Given the description of an element on the screen output the (x, y) to click on. 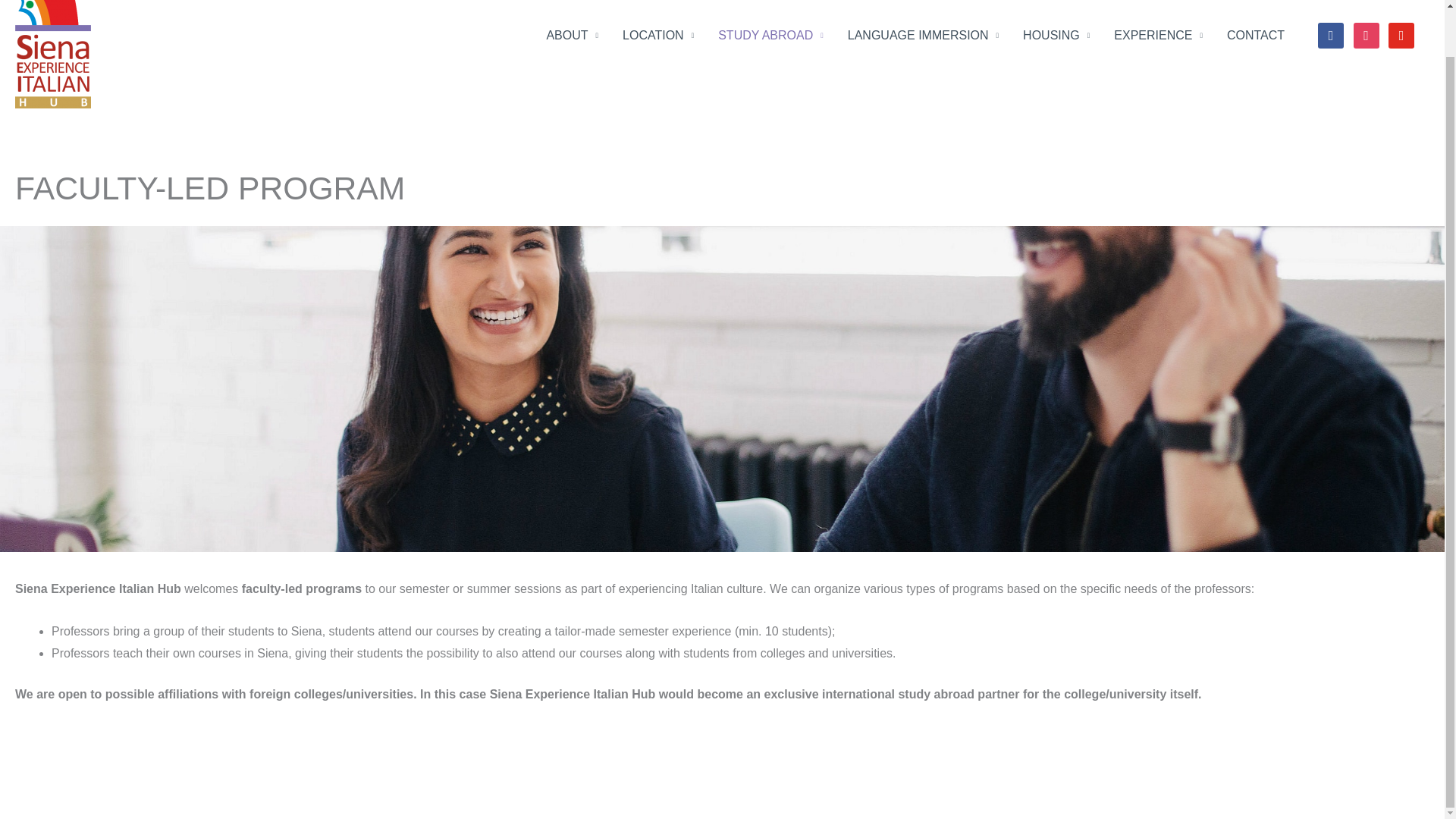
LANGUAGE IMMERSION (922, 34)
Default Label (1401, 35)
facebook (1330, 35)
CONTACT (1255, 34)
ABOUT (572, 34)
STUDY ABROAD (770, 34)
LOCATION (658, 34)
youtube (1401, 35)
instagram (1366, 35)
EXPERIENCE (1158, 34)
